Given the description of an element on the screen output the (x, y) to click on. 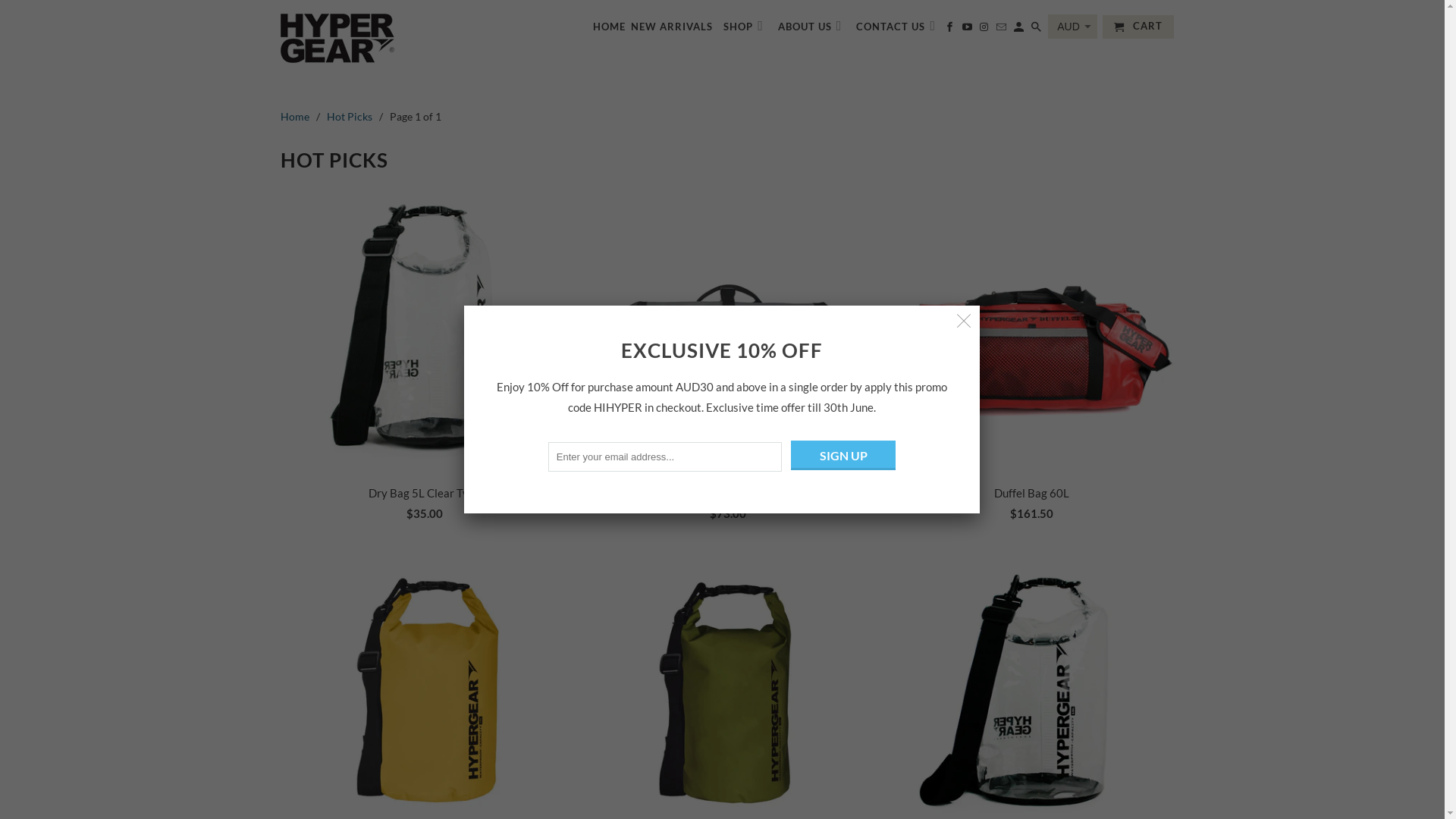
HOME Element type: text (609, 29)
Duffel Bag 60L
$161.50 Element type: text (1031, 358)
Dry Bag 5L Clear Type
$35.00 Element type: text (424, 358)
CART Element type: text (1137, 26)
Hypergear Australia on Facebook Element type: hover (950, 29)
Hot Picks Element type: text (349, 115)
Hypergear Australia Element type: hover (386, 37)
NEW ARRIVALS Element type: text (671, 29)
Waist Pouch - Large
$73.00 Element type: text (727, 358)
Close Element type: hover (963, 320)
Hypergear Australia on YouTube Element type: hover (968, 29)
Hypergear Australia on Instagram Element type: hover (985, 29)
Search Element type: hover (1037, 29)
Sign Up Element type: text (842, 455)
Email Hypergear Australia Element type: hover (1002, 29)
My Account  Element type: hover (1019, 29)
Home Element type: text (294, 115)
